Given the description of an element on the screen output the (x, y) to click on. 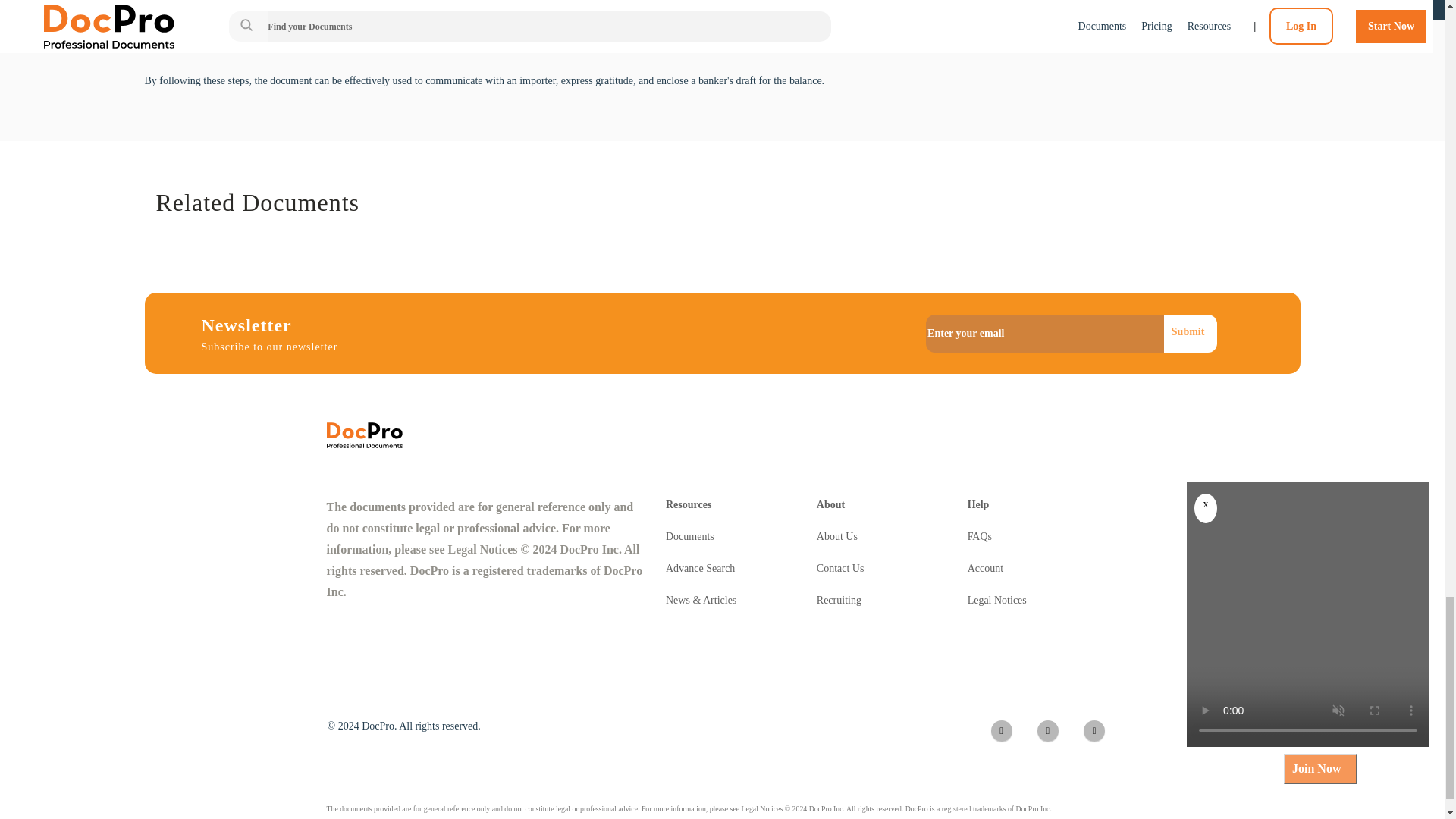
Facebook (1000, 731)
Youtube (1094, 731)
Linkedin (1047, 731)
